Given the description of an element on the screen output the (x, y) to click on. 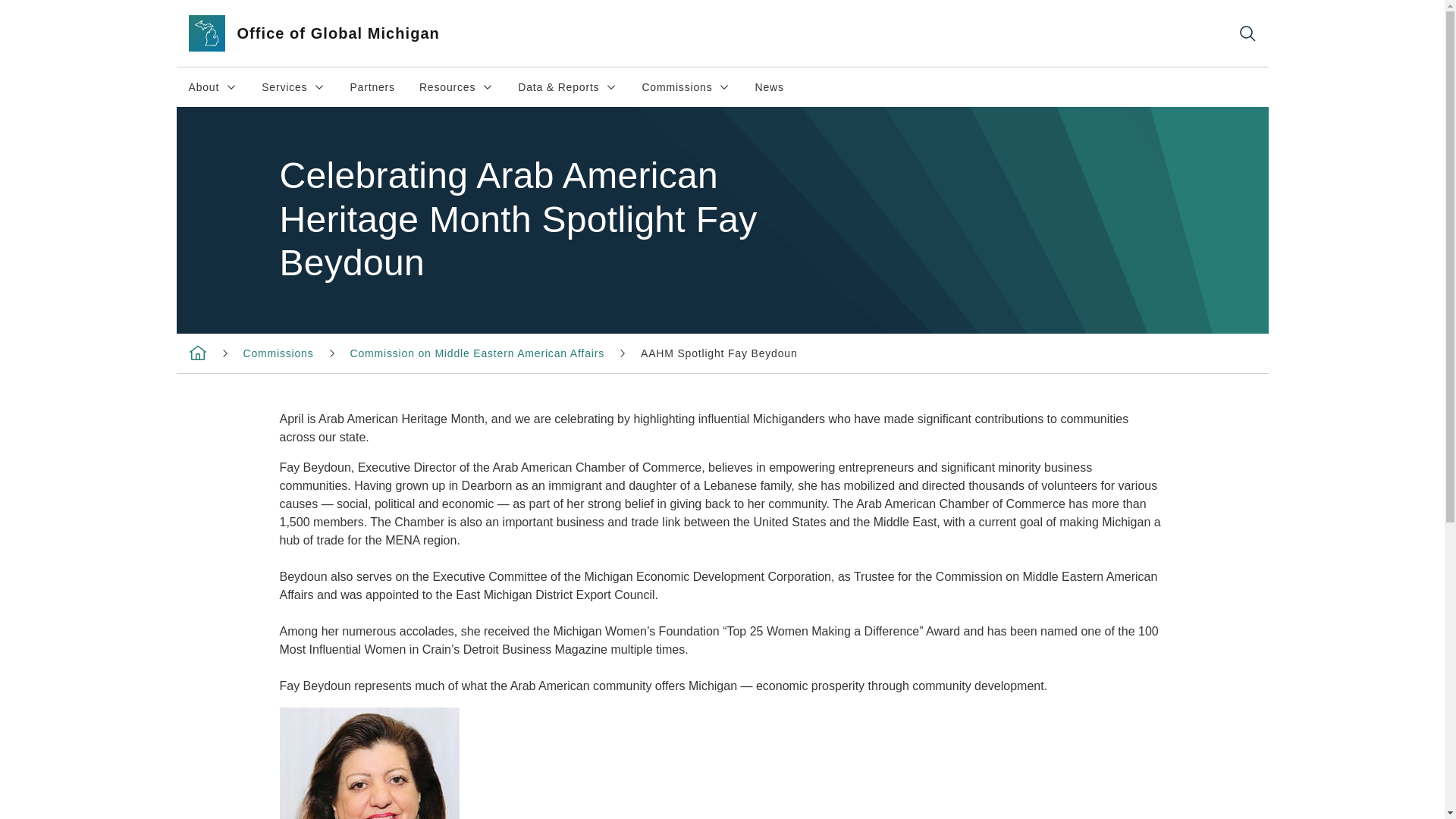
Commission on Middle Eastern American Affairs (477, 353)
AAHM Spotlight Fay Beydoun (718, 353)
News (292, 87)
Office of Global Michigan (456, 87)
Partners (768, 87)
Office of Global Michigan (685, 87)
